Given the description of an element on the screen output the (x, y) to click on. 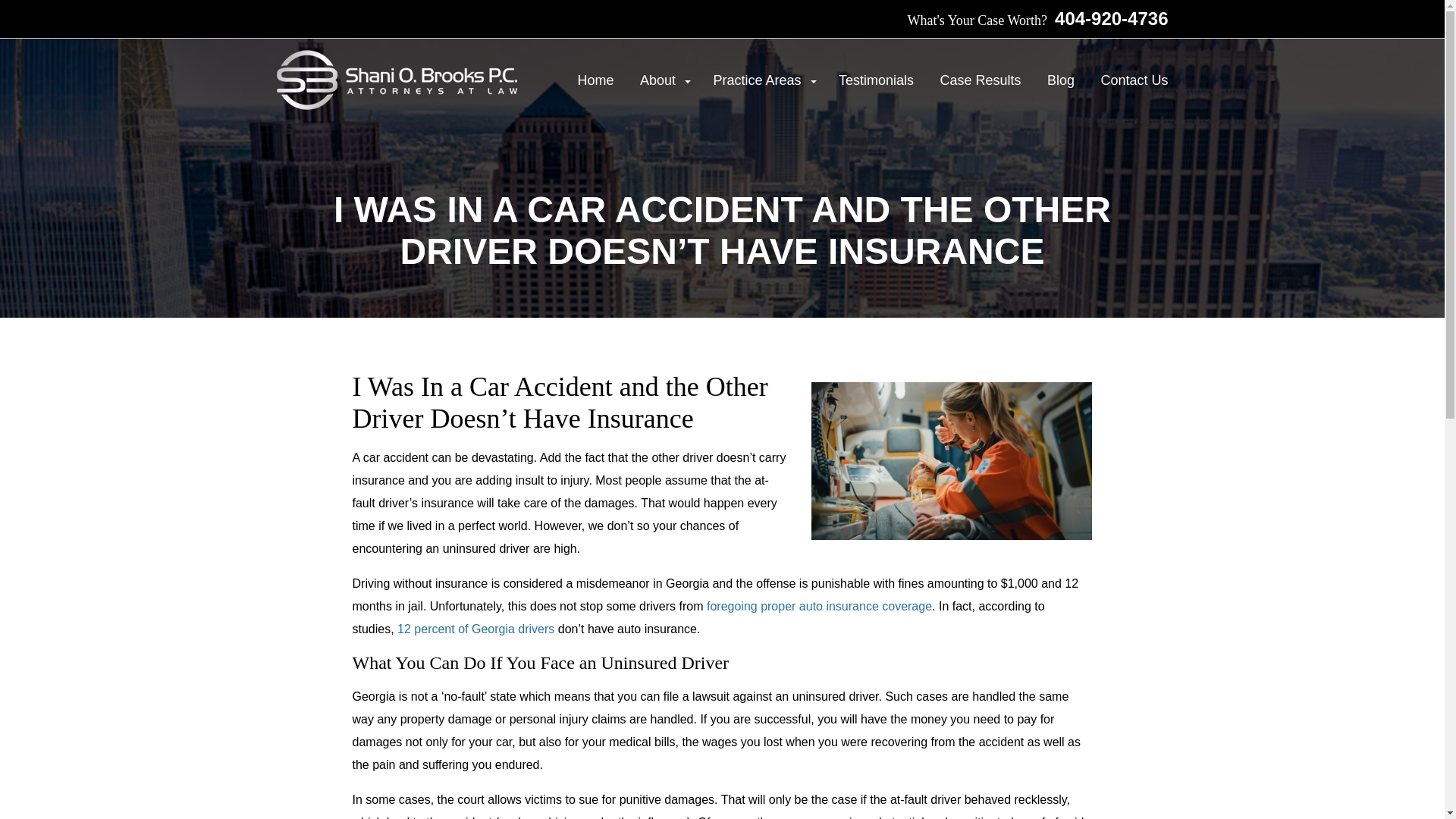
404-920-4736 (1106, 18)
Case Results (979, 80)
foregoing proper auto insurance coverage (818, 605)
12 percent of Georgia drivers (475, 628)
Contact Us (1133, 80)
Practice Areas (762, 80)
Testimonials (876, 80)
